Given the description of an element on the screen output the (x, y) to click on. 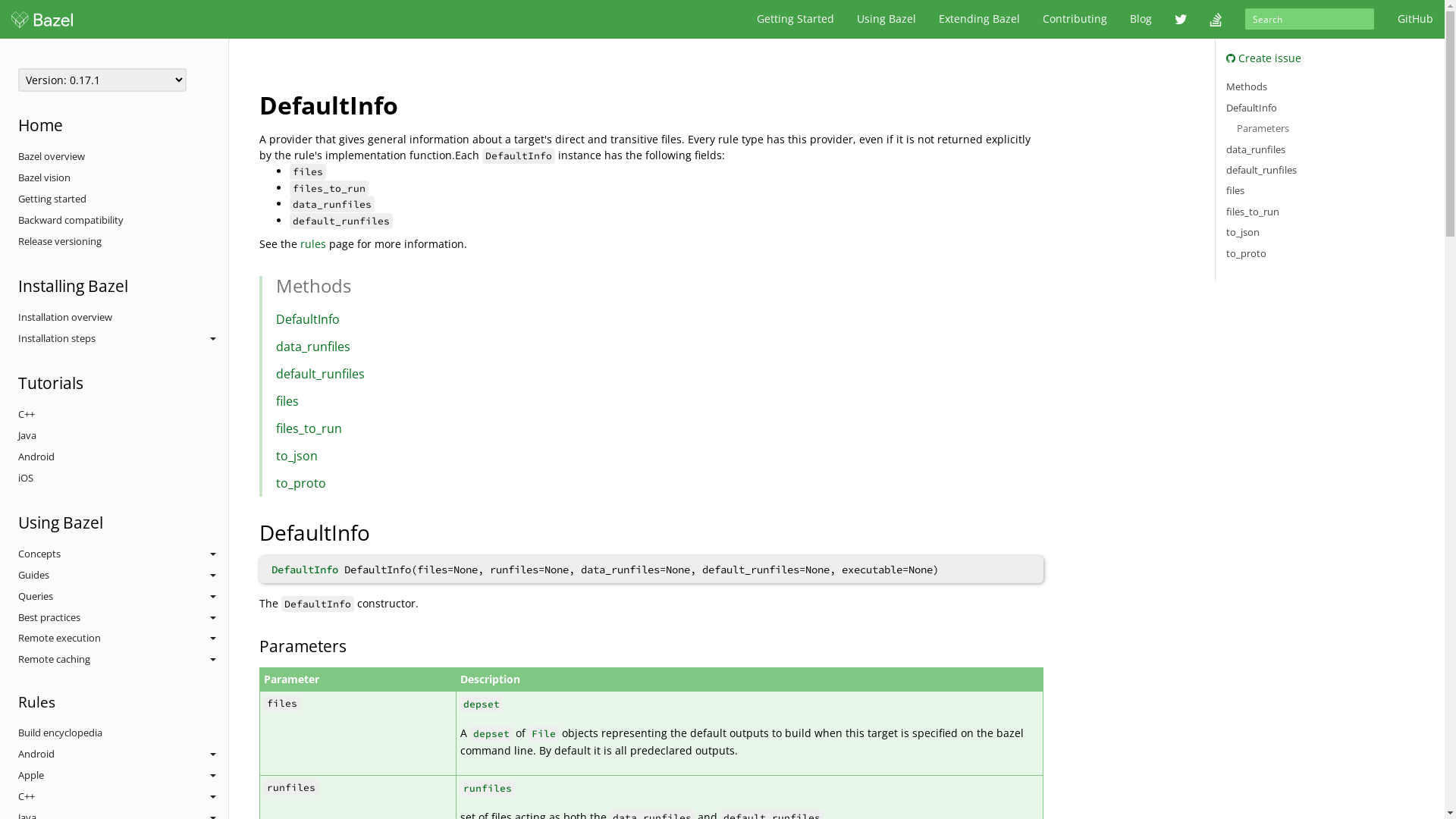
Guides Element type: text (123, 575)
Methods Element type: text (1246, 86)
iOS Element type: text (123, 478)
Release versioning Element type: text (123, 241)
files Element type: text (1235, 190)
Remote caching Element type: text (123, 659)
Apple Element type: text (123, 775)
data_runfiles Element type: text (1255, 149)
Extending Bazel Element type: text (979, 18)
to_json Element type: text (1242, 231)
to_json Element type: text (296, 455)
Blog Element type: text (1140, 18)
Installation overview Element type: text (123, 317)
DefaultInfo Element type: text (304, 569)
to_proto Element type: text (301, 482)
depset Element type: text (481, 703)
to_proto Element type: text (1246, 253)
GitHub Element type: text (1415, 18)
files_to_run Element type: text (1252, 211)
Remote execution Element type: text (123, 638)
Android Element type: text (123, 456)
Bazel vision Element type: text (123, 177)
C++ Element type: text (123, 796)
Create issue Element type: text (1263, 57)
default_runfiles Element type: text (1261, 169)
data_runfiles Element type: text (313, 346)
files_to_run Element type: text (309, 428)
Concepts Element type: text (123, 553)
runfiles Element type: text (487, 787)
Installation steps Element type: text (123, 338)
DefaultInfo Element type: text (307, 318)
Parameters Element type: text (1262, 127)
Bazel overview Element type: text (123, 156)
Java Element type: text (123, 435)
default_runfiles Element type: text (320, 373)
Queries Element type: text (123, 596)
Getting started Element type: text (123, 199)
Build encyclopedia Element type: text (123, 732)
Android Element type: text (123, 754)
files Element type: text (287, 400)
Backward compatibility Element type: text (123, 220)
DefaultInfo Element type: text (1251, 107)
depset Element type: text (491, 732)
rules Element type: text (313, 243)
Best practices Element type: text (123, 616)
Getting Started Element type: text (795, 18)
C++ Element type: text (123, 414)
Using Bazel Element type: text (886, 18)
File Element type: text (543, 732)
Contributing Element type: text (1074, 18)
